Given the description of an element on the screen output the (x, y) to click on. 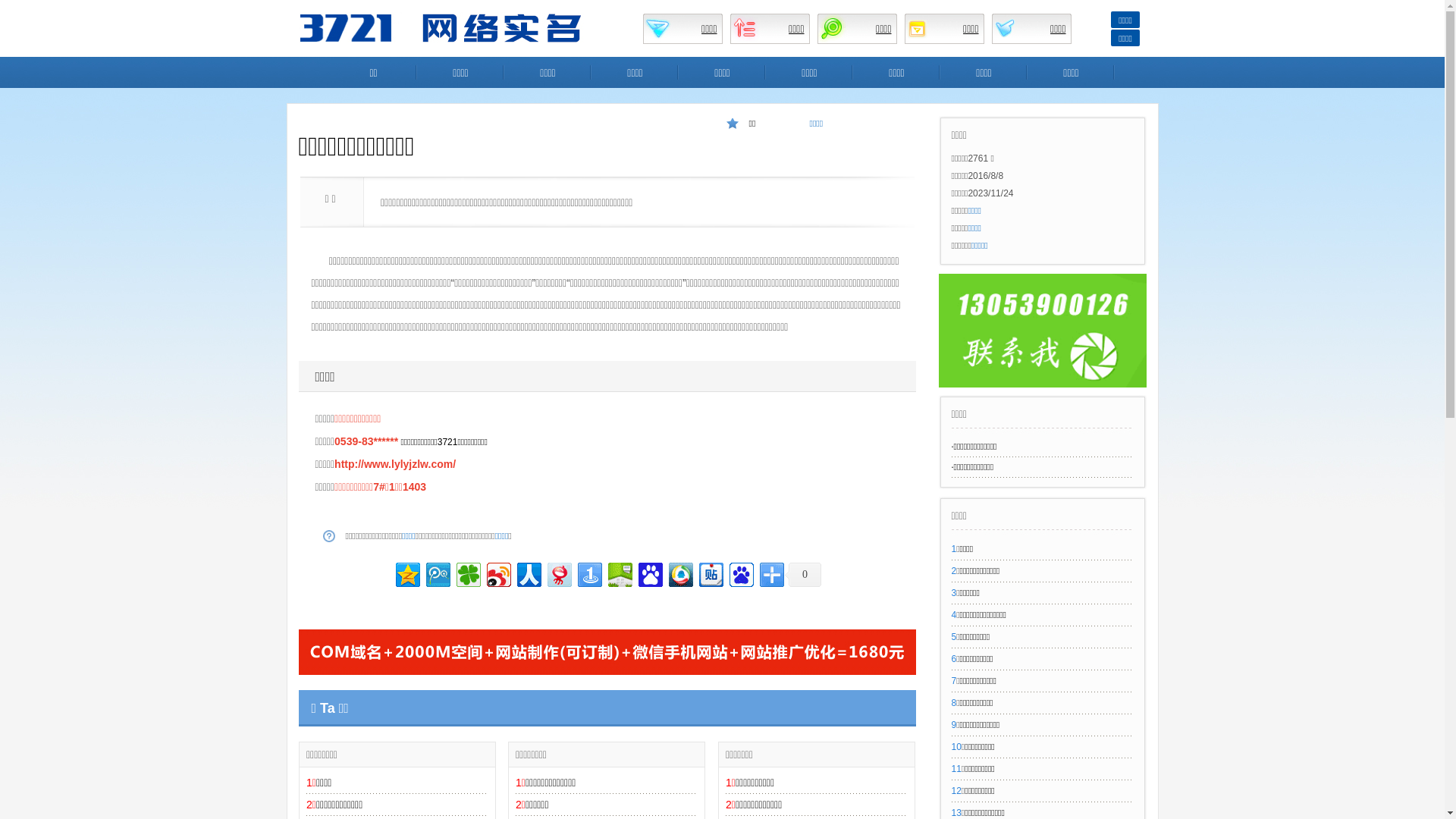
0 Element type: text (802, 574)
http://www.lylyjzlw.com/ Element type: text (394, 464)
